Given the description of an element on the screen output the (x, y) to click on. 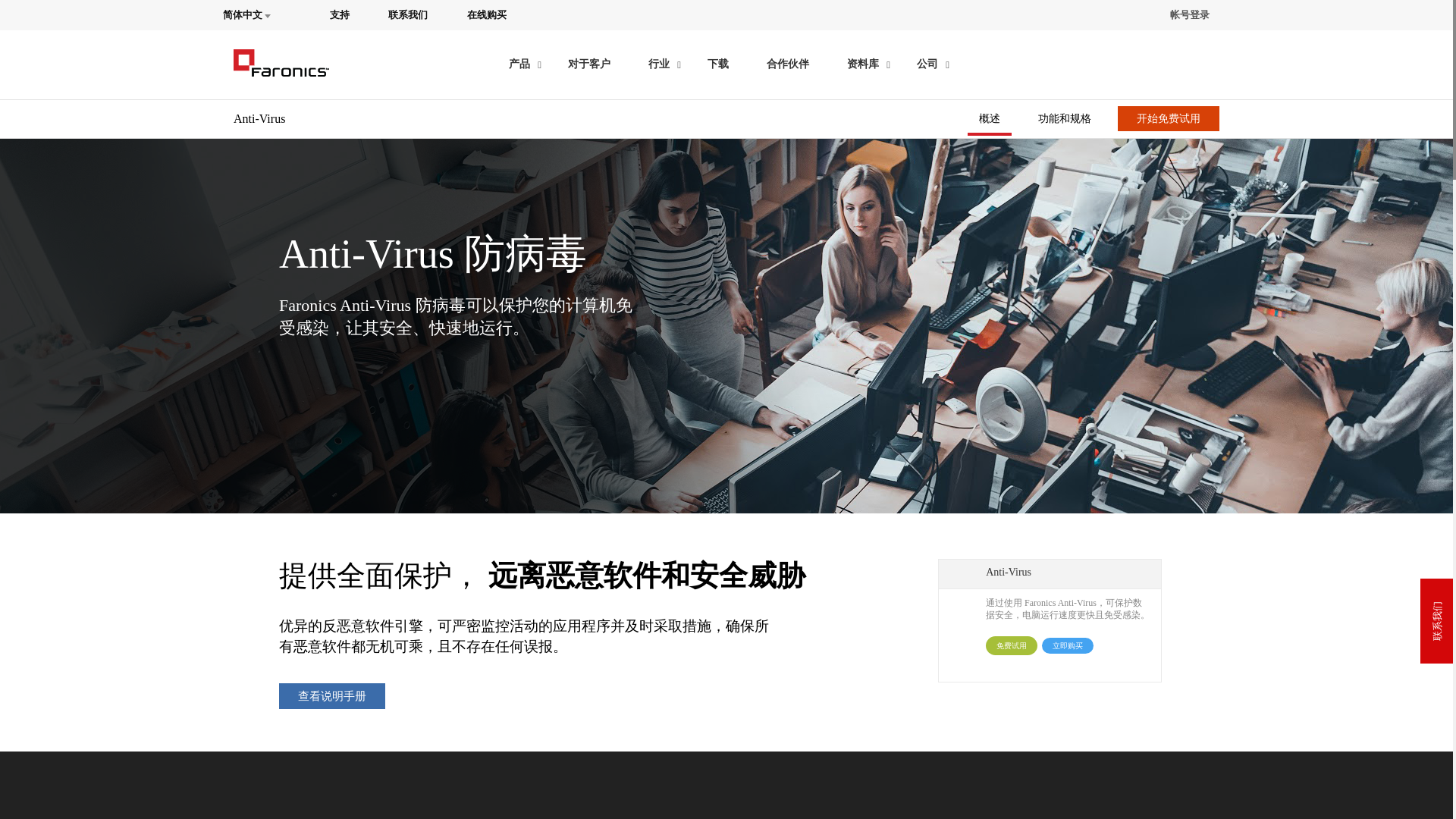
Change Language (255, 14)
